Given the description of an element on the screen output the (x, y) to click on. 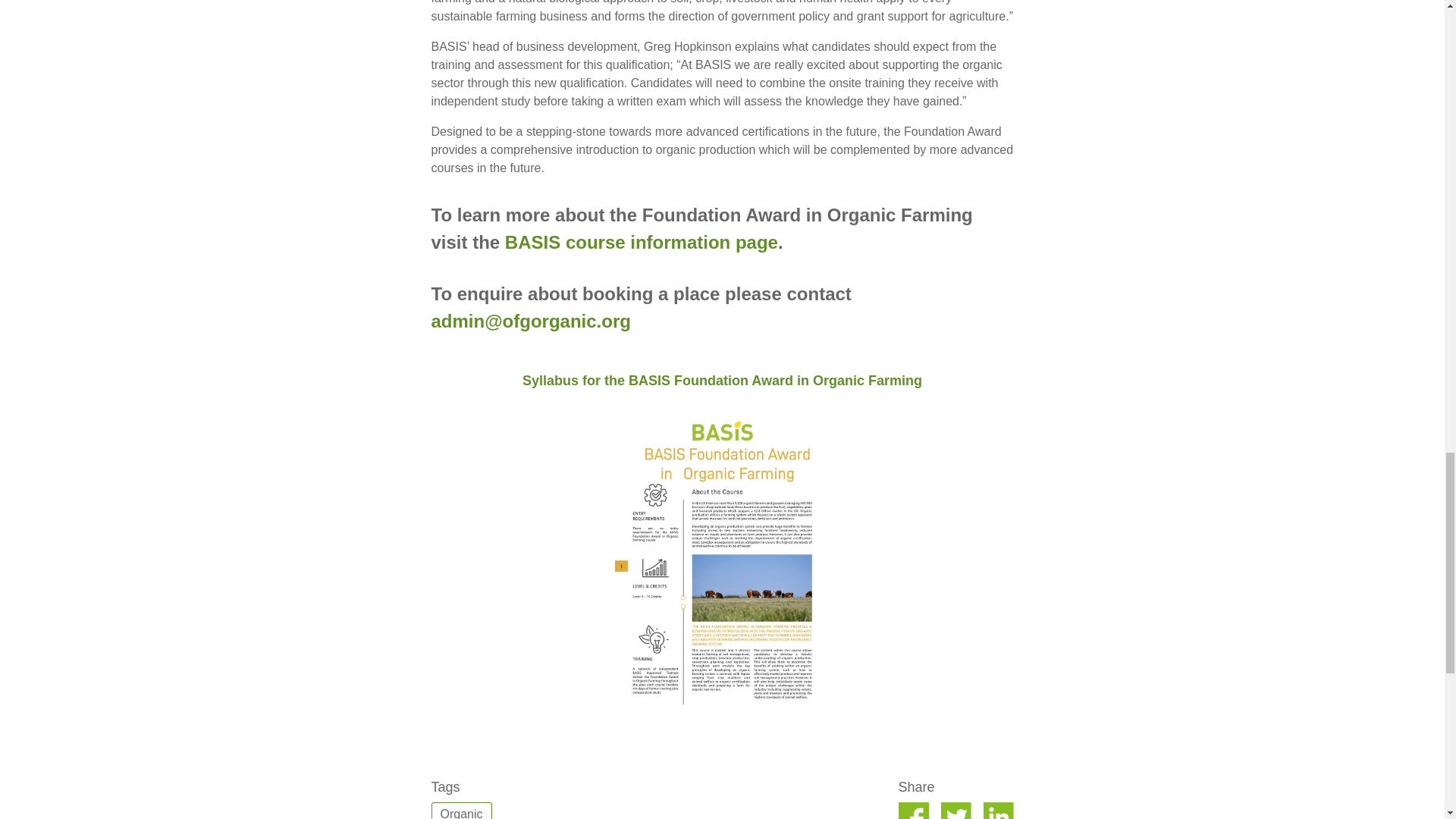
BASIS course information page (641, 241)
Organic (461, 810)
Syllabus for the BASIS Foundation Award in Organic Farming (721, 380)
